Given the description of an element on the screen output the (x, y) to click on. 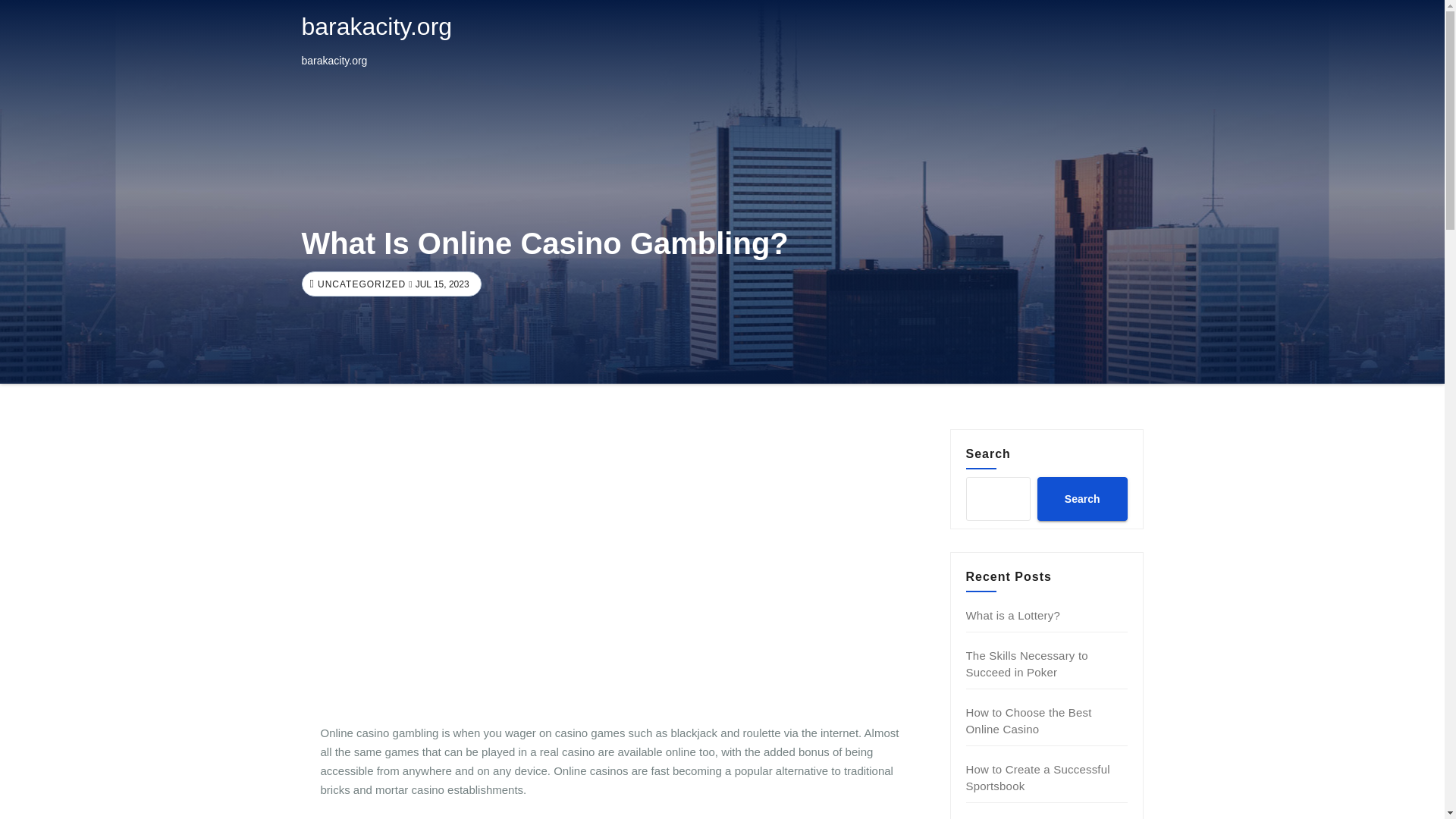
What is a Lottery? (1013, 615)
The Skills Necessary to Succeed in Poker (1026, 663)
How to Create a Successful Sportsbook (1037, 777)
barakacity.org (376, 26)
Search (1081, 498)
UNCATEGORIZED (360, 284)
How to Choose the Best Online Casino (1029, 720)
